Given the description of an element on the screen output the (x, y) to click on. 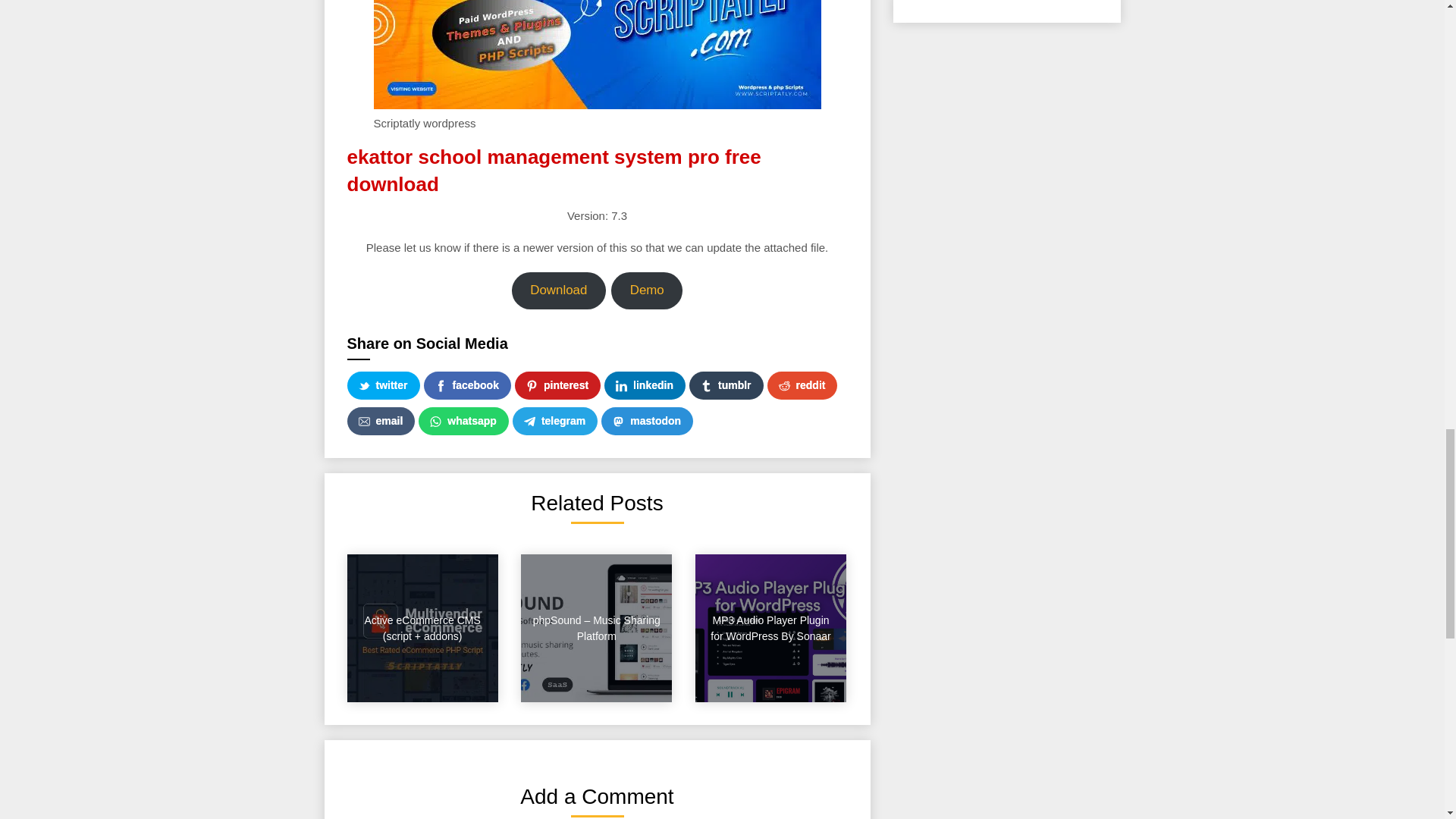
whatsapp (463, 420)
linkedin (644, 385)
tumblr (725, 385)
reddit (802, 385)
email (380, 420)
pinterest (557, 385)
mastodon (647, 420)
telegram (554, 420)
Ekattor School Management System 2 (596, 54)
Download (558, 290)
